Given the description of an element on the screen output the (x, y) to click on. 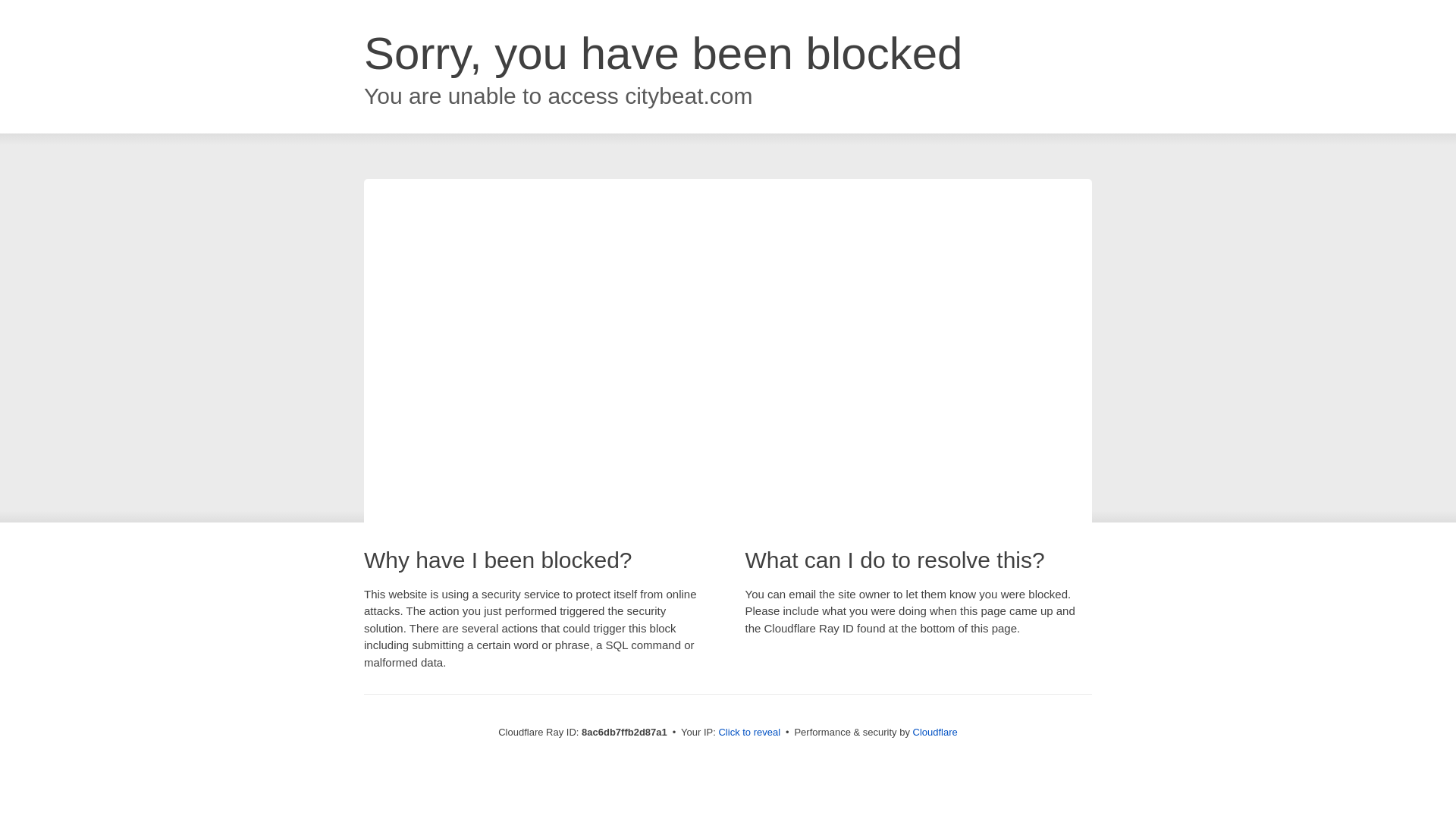
Click to reveal (748, 732)
Cloudflare (935, 731)
